Given the description of an element on the screen output the (x, y) to click on. 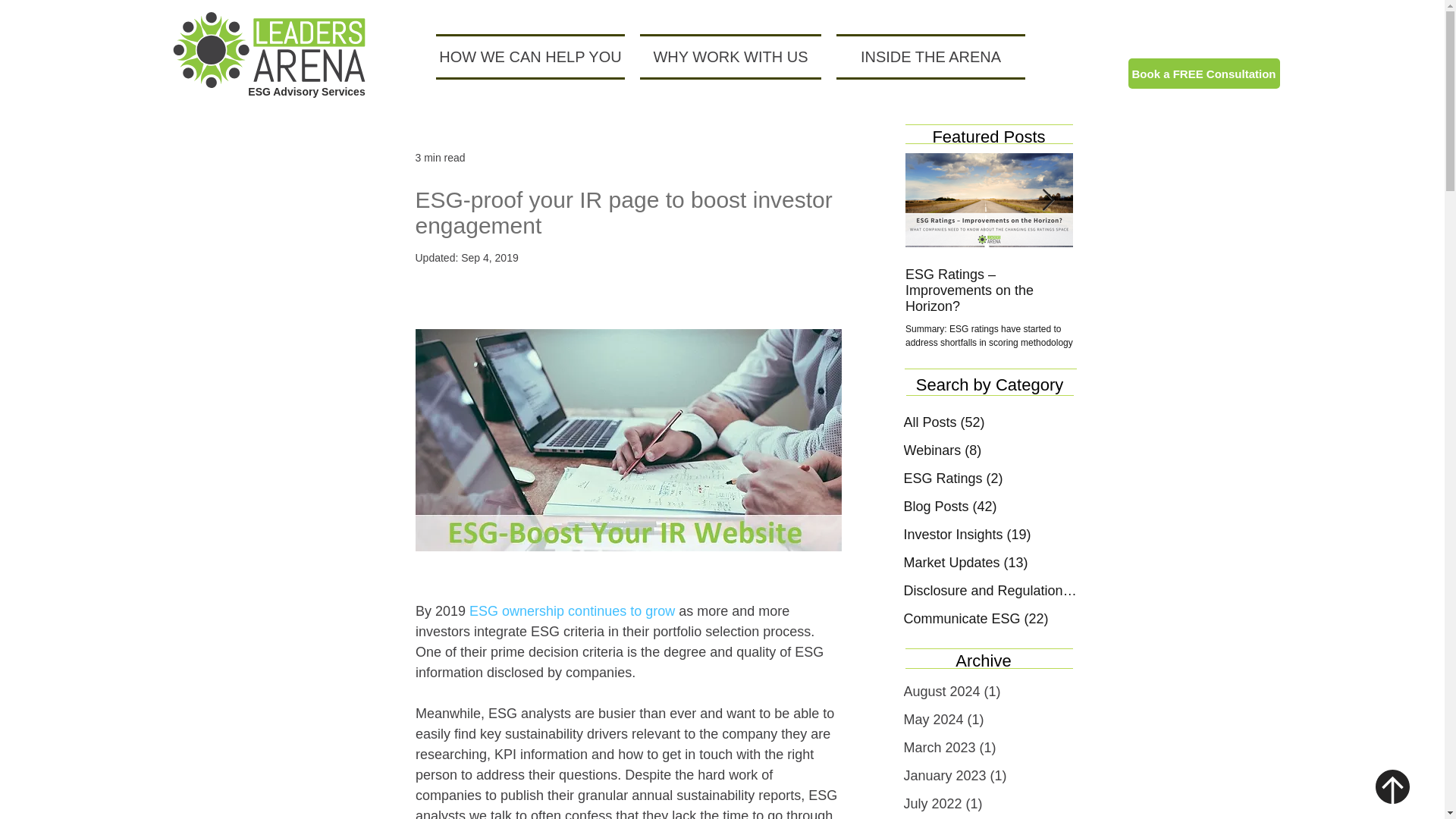
ESG Advisory Services (306, 91)
ESG ownership continues to grow (571, 611)
Sep 4, 2019 (489, 257)
3 min read (439, 157)
WHY WORK WITH US (729, 56)
INSIDE THE ARENA (926, 56)
HOW WE CAN HELP YOU (533, 56)
Book a FREE Consultation (1203, 73)
